Given the description of an element on the screen output the (x, y) to click on. 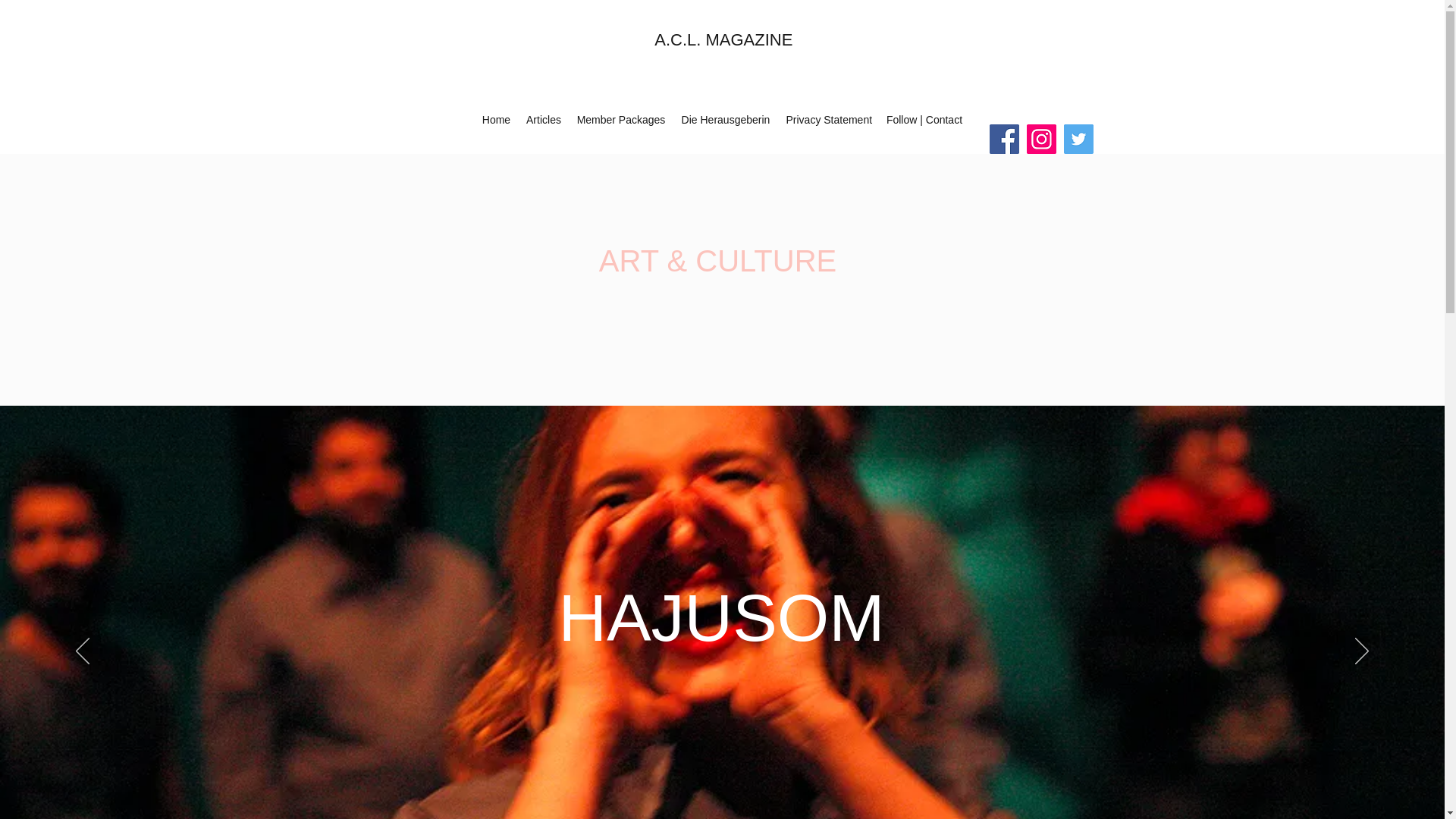
Die Herausgeberin (724, 119)
A.C.L. MAGAZINE (722, 39)
Articles (543, 119)
Member Packages (620, 119)
Home (496, 119)
Privacy Statement (827, 119)
